Given the description of an element on the screen output the (x, y) to click on. 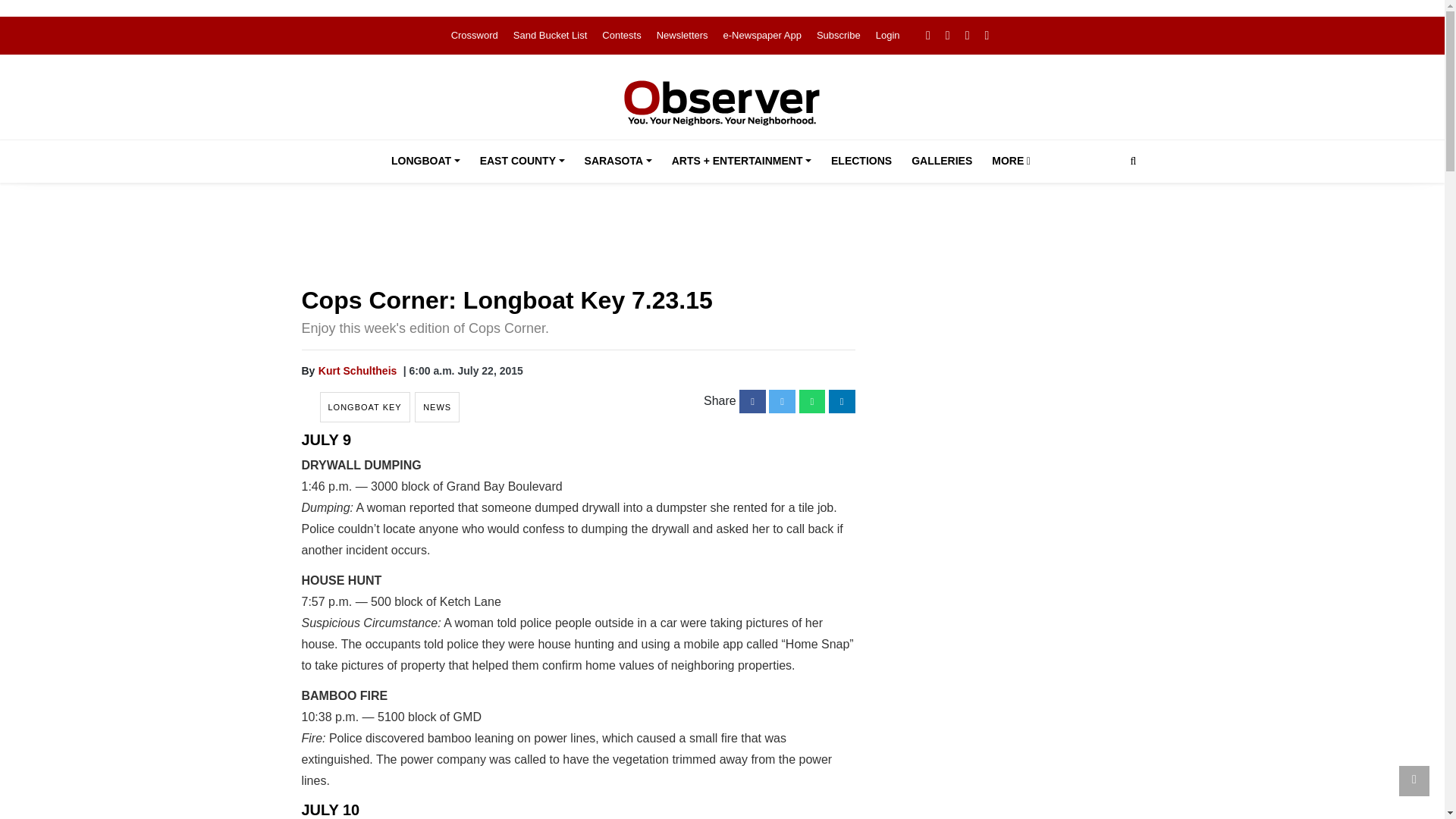
e-Newspaper App (762, 34)
Newsletters (681, 34)
3rd party ad content (1010, 770)
Sand Bucket List (550, 34)
LONGBOAT (425, 161)
Contests (621, 34)
SARASOTA (617, 161)
Subscribe (838, 34)
3rd party ad content (1010, 604)
Login (887, 34)
3rd party ad content (722, 237)
EAST COUNTY (521, 161)
Crossword (474, 34)
3rd party ad content (1010, 391)
